Given the description of an element on the screen output the (x, y) to click on. 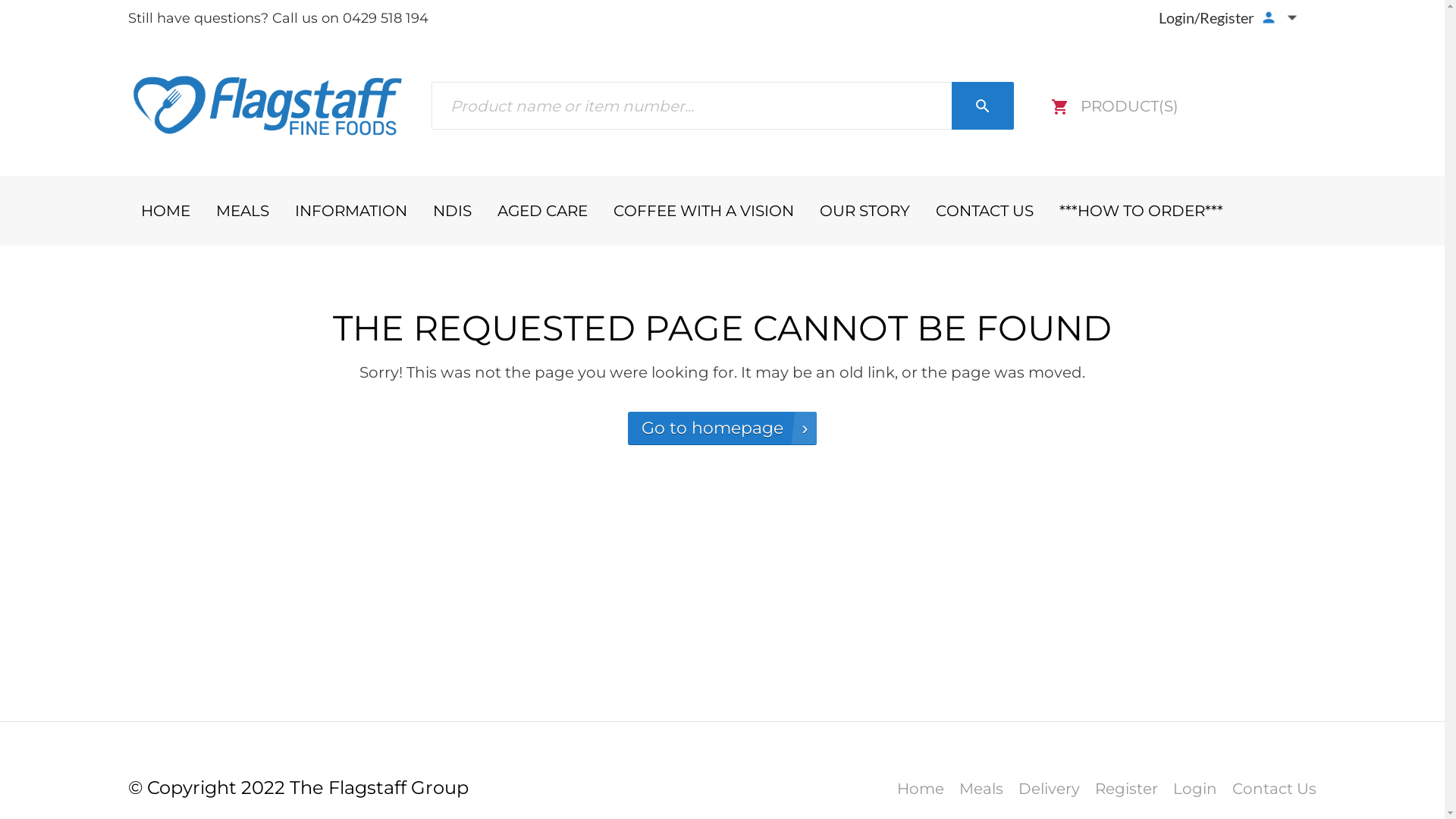
Go to homepage Element type: text (721, 428)
HOME Element type: text (164, 210)
CONTACT US Element type: text (983, 210)
OUR STORY Element type: text (864, 210)
INFORMATION Element type: text (351, 210)
Meals Element type: text (981, 788)
Register Element type: text (1126, 788)
NDIS Element type: text (452, 210)
AGED CARE Element type: text (541, 210)
Homepage Element type: text (266, 105)
Login Element type: text (1195, 788)
***HOW TO ORDER*** Element type: text (1141, 210)
Delivery Element type: text (1048, 788)
COFFEE WITH A VISION Element type: text (703, 210)
PRODUCT(S) Element type: text (1114, 106)
Home Element type: text (920, 788)
Contact Us Element type: text (1274, 788)
MEALS Element type: text (242, 210)
